Given the description of an element on the screen output the (x, y) to click on. 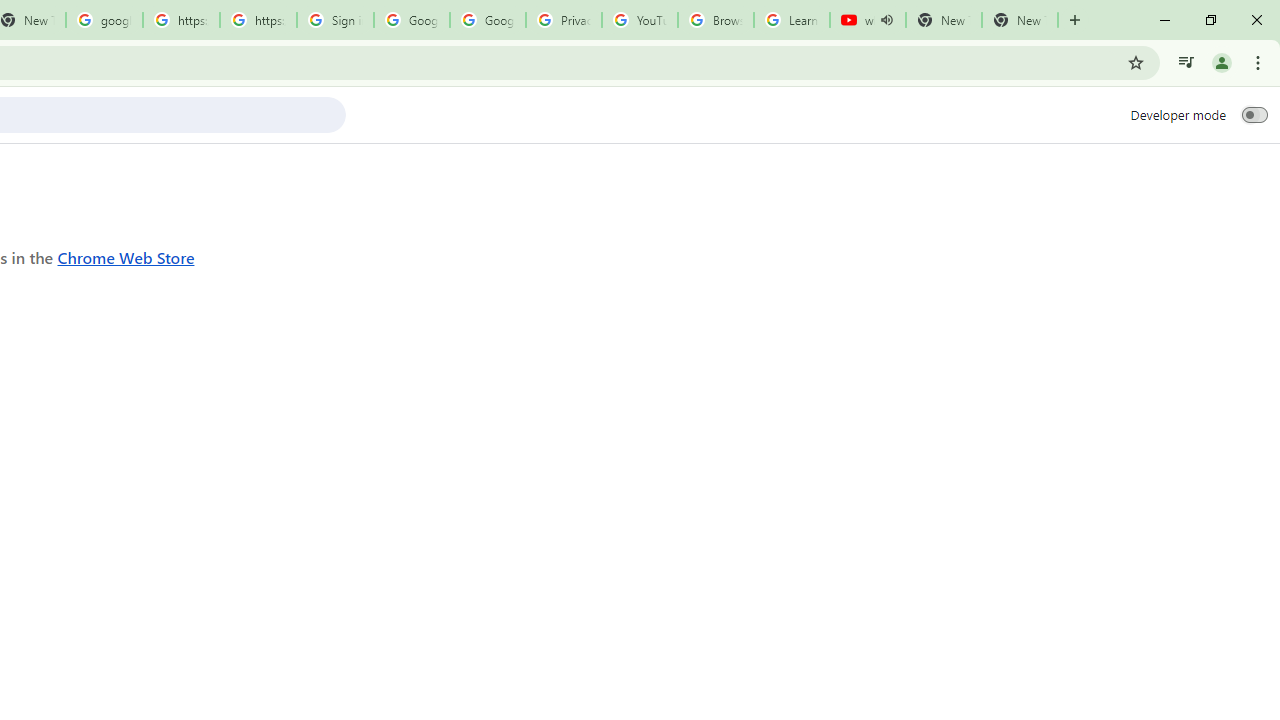
Developer mode (1254, 114)
Chrome Web Store (125, 256)
